Given the description of an element on the screen output the (x, y) to click on. 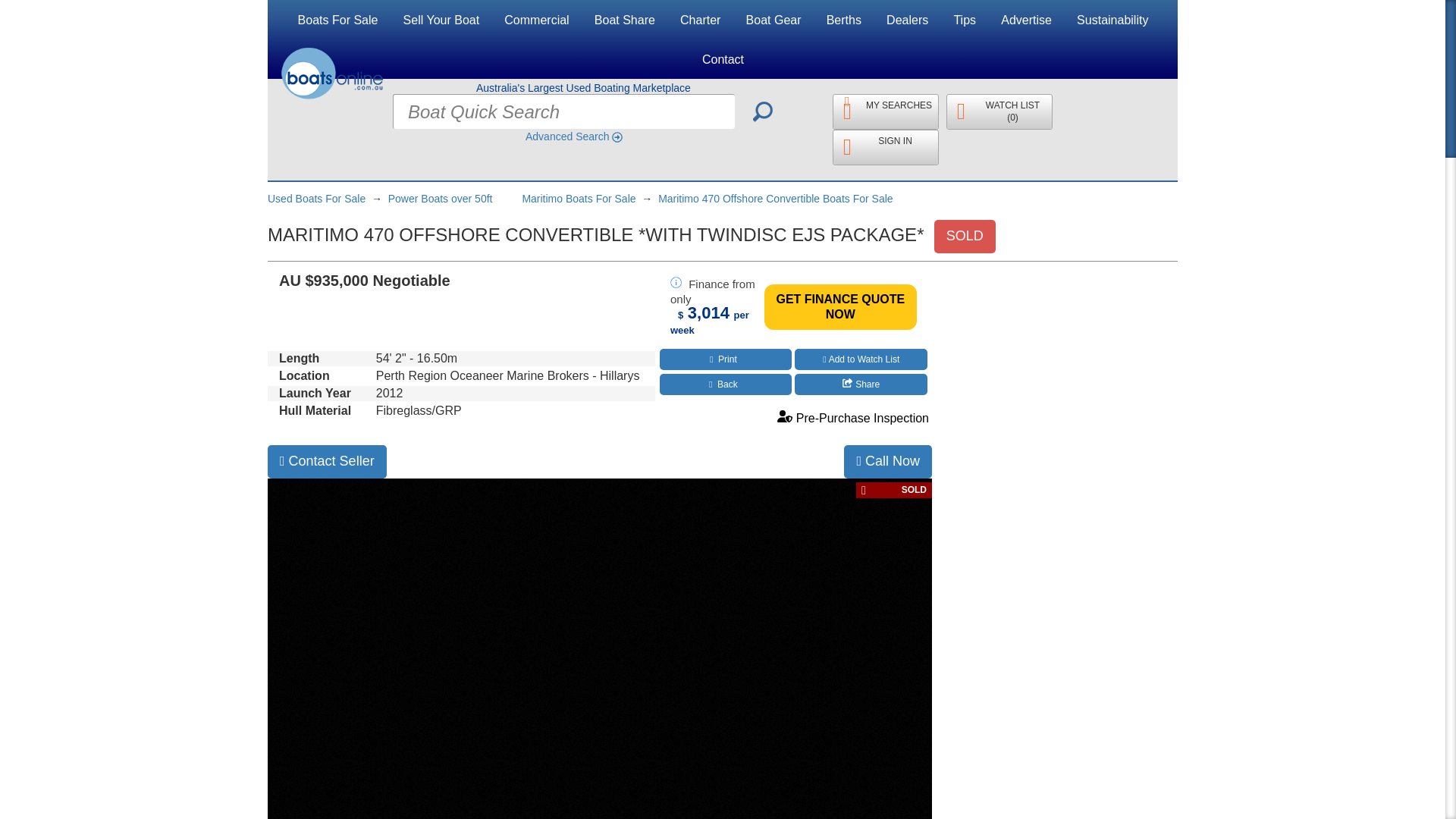
Keyword Search (762, 111)
Charter (700, 19)
Sell Your Boat (441, 19)
Boats For Sale (338, 19)
Boat Share (624, 19)
Commercial (536, 19)
